Given the description of an element on the screen output the (x, y) to click on. 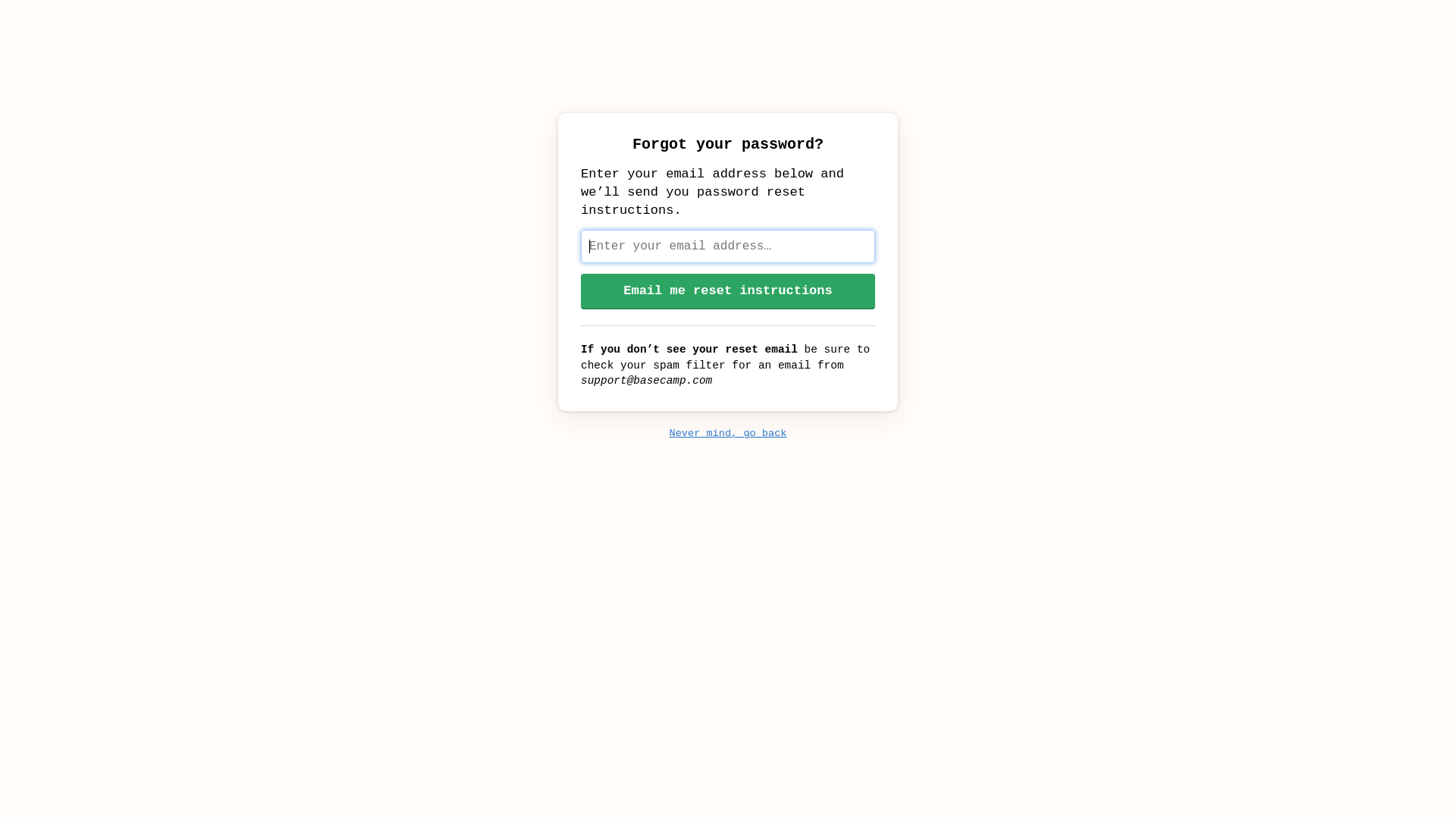
Email me reset instructions Element type: text (727, 291)
Never mind, go back Element type: text (727, 433)
